Given the description of an element on the screen output the (x, y) to click on. 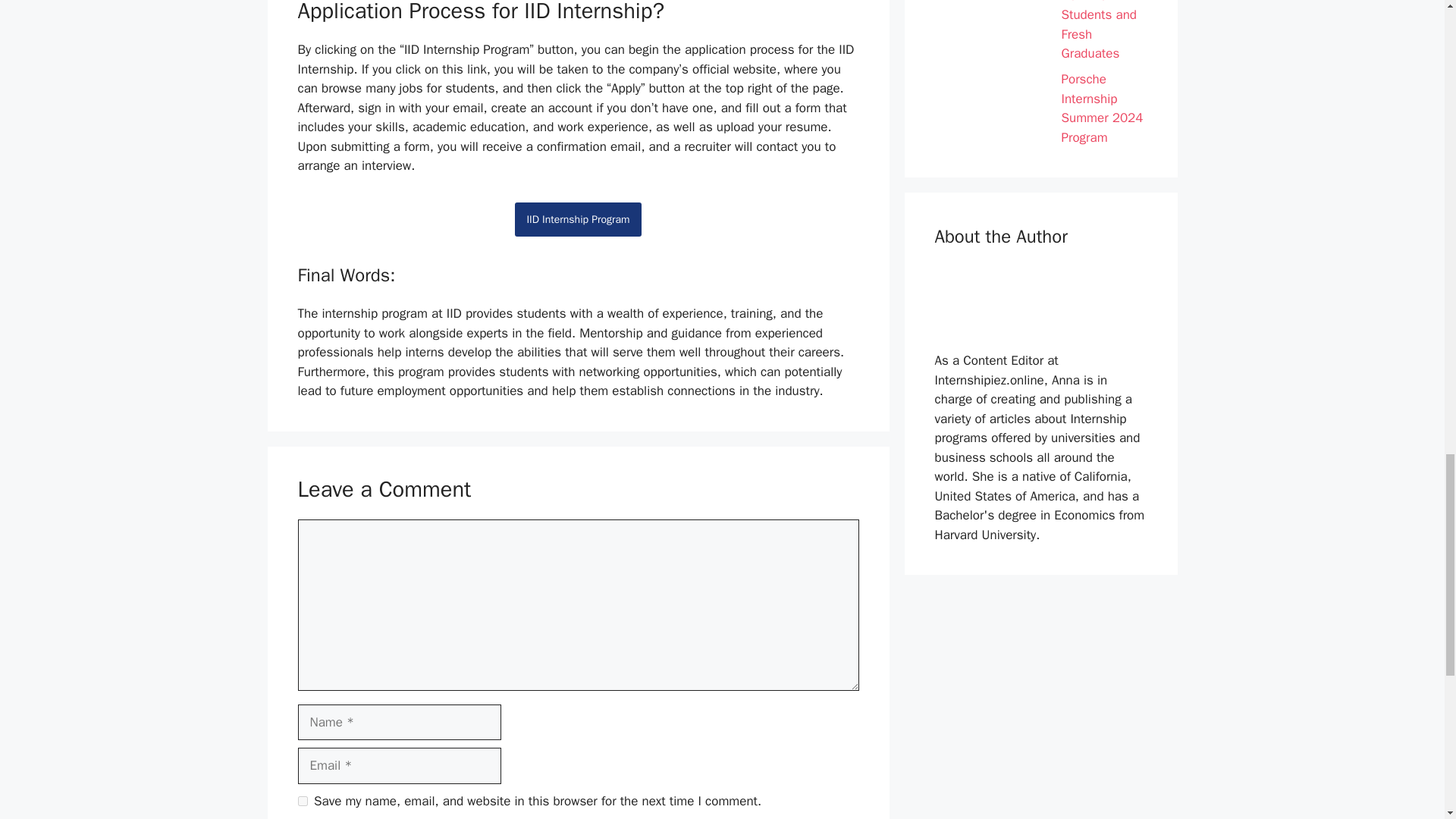
yes (302, 800)
IID Internship (577, 219)
IID Internship Program (577, 219)
